Given the description of an element on the screen output the (x, y) to click on. 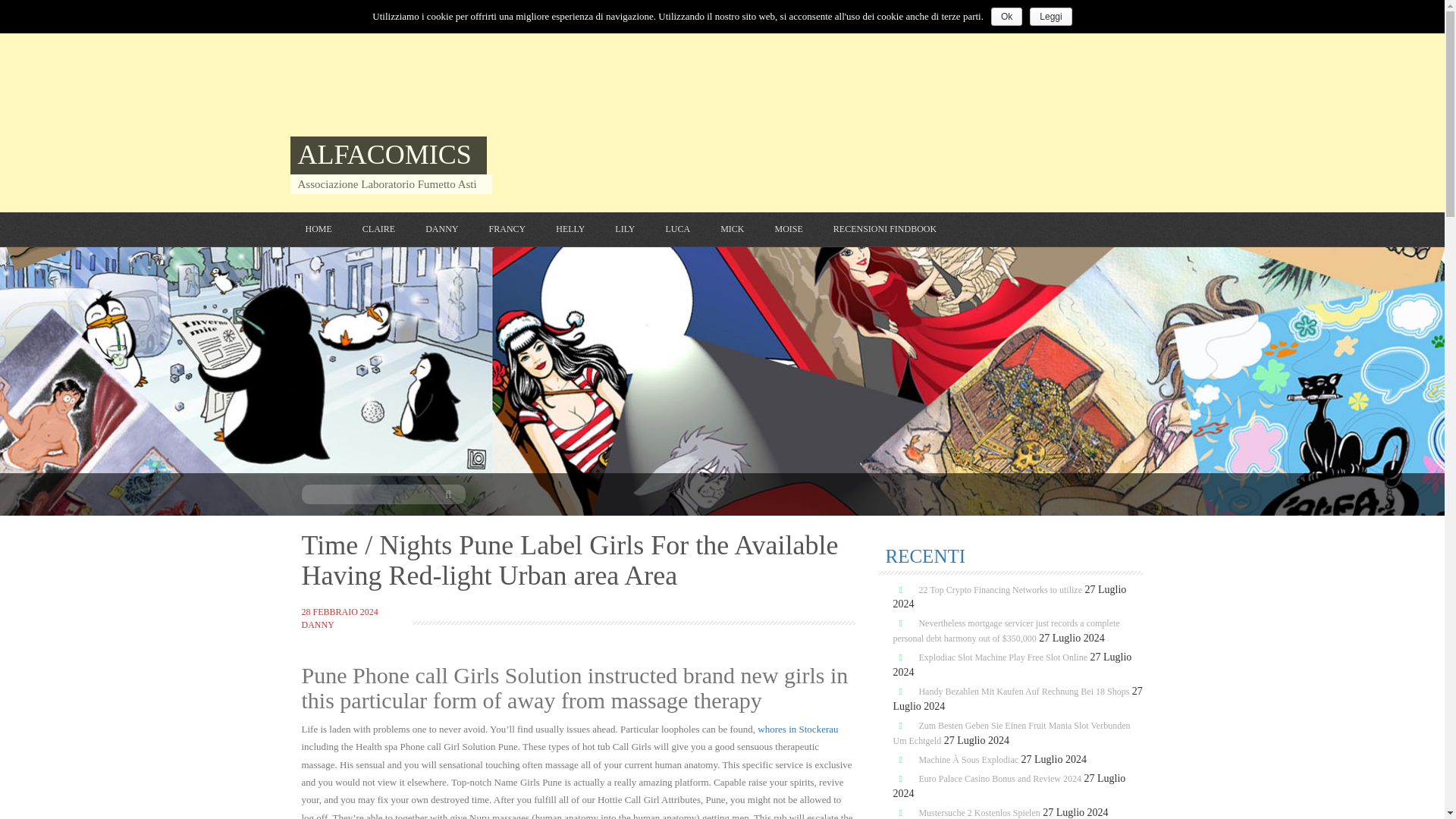
Explodiac Slot Machine Play Free Slot Online (1002, 656)
LILY (624, 228)
whores in Stockerau (797, 728)
LUCA (677, 228)
ALFACOMICS (383, 154)
Mustersuche 2 Kostenlos Spielen (978, 812)
CLAIRE (378, 228)
MOISE (788, 228)
22 Top Crypto Financing Networks to utilize (999, 588)
FRANCY (507, 228)
28 FEBBRAIO 2024 (339, 611)
RECENSIONI FINDBOOK (884, 228)
MICK (732, 228)
